Given the description of an element on the screen output the (x, y) to click on. 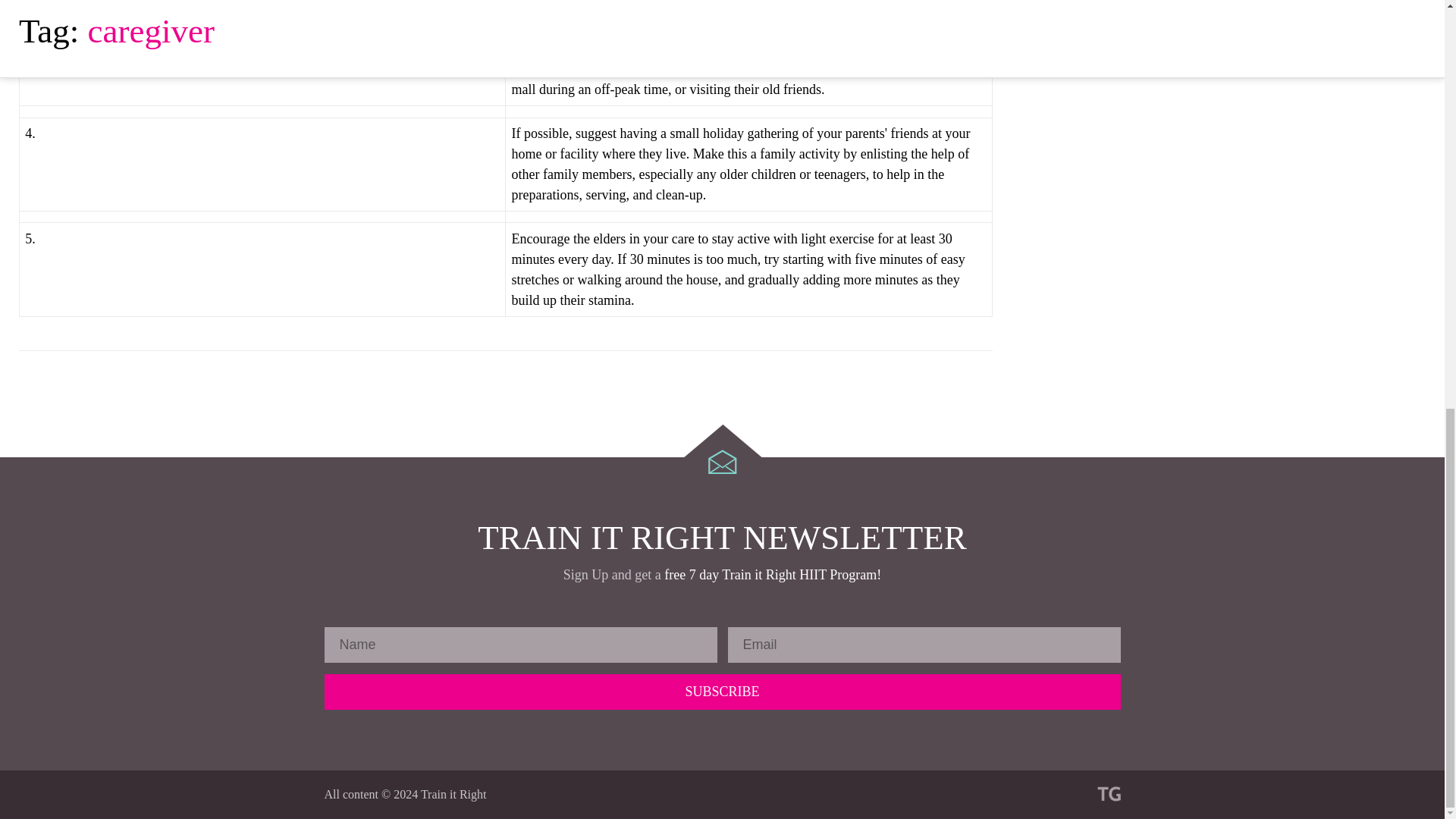
Subscribe (722, 692)
Subscribe (722, 692)
